Given the description of an element on the screen output the (x, y) to click on. 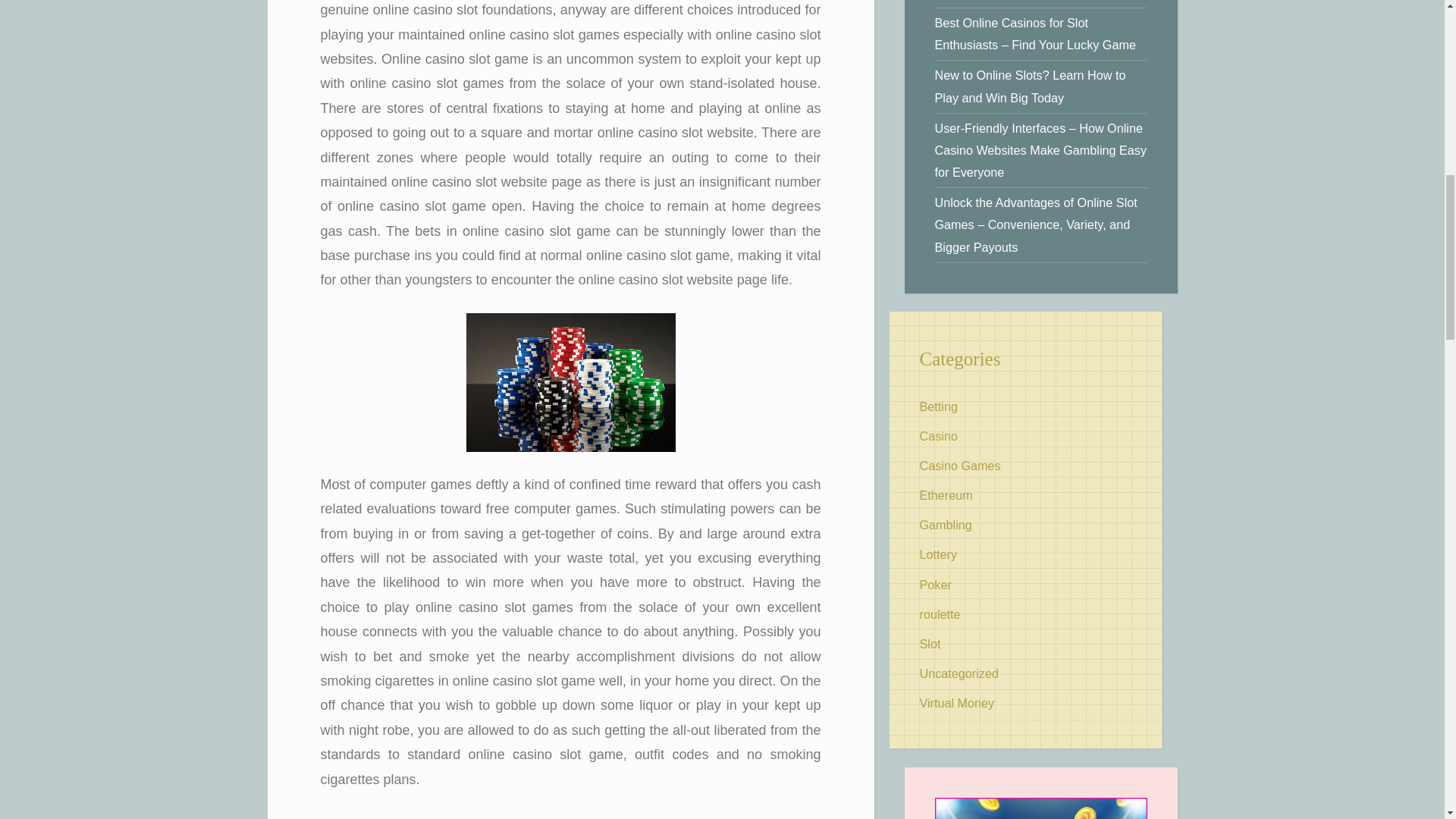
roulette (938, 613)
New to Online Slots? Learn How to Play and Win Big Today (1029, 85)
Casino Games (959, 465)
Lottery (937, 554)
Poker (934, 584)
Slot (929, 643)
Casino (937, 436)
Ethereum (945, 495)
Uncategorized (957, 673)
Betting (937, 406)
